Given the description of an element on the screen output the (x, y) to click on. 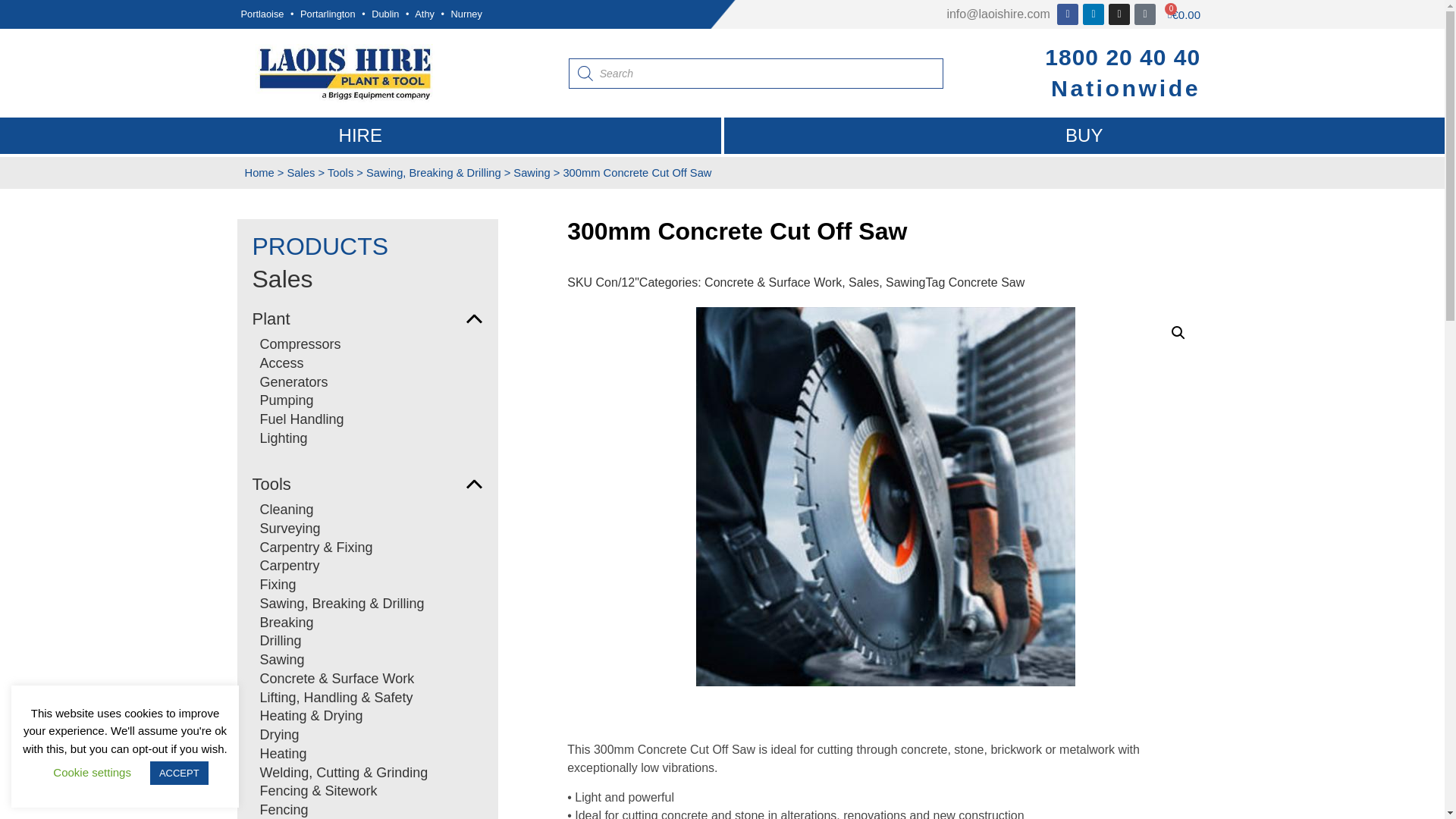
HIRE (360, 135)
1800 20 40 40 (1122, 57)
